Given the description of an element on the screen output the (x, y) to click on. 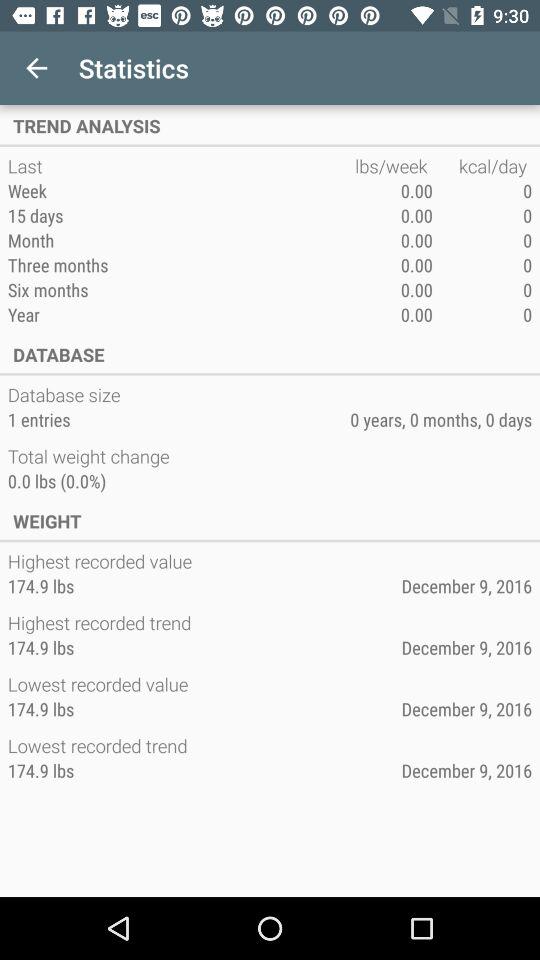
click the item below database item (66, 394)
